Given the description of an element on the screen output the (x, y) to click on. 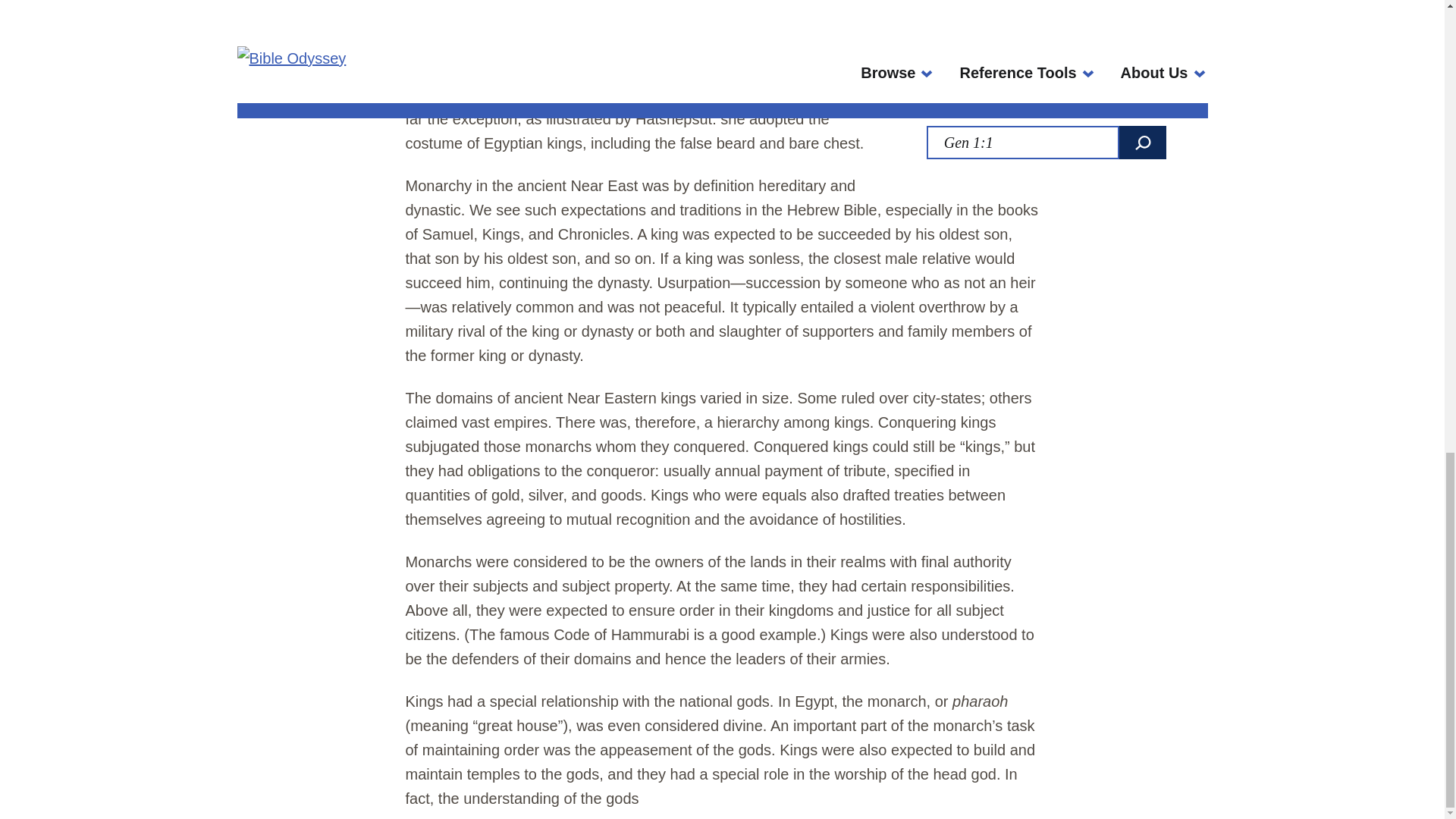
Search (1142, 142)
